Given the description of an element on the screen output the (x, y) to click on. 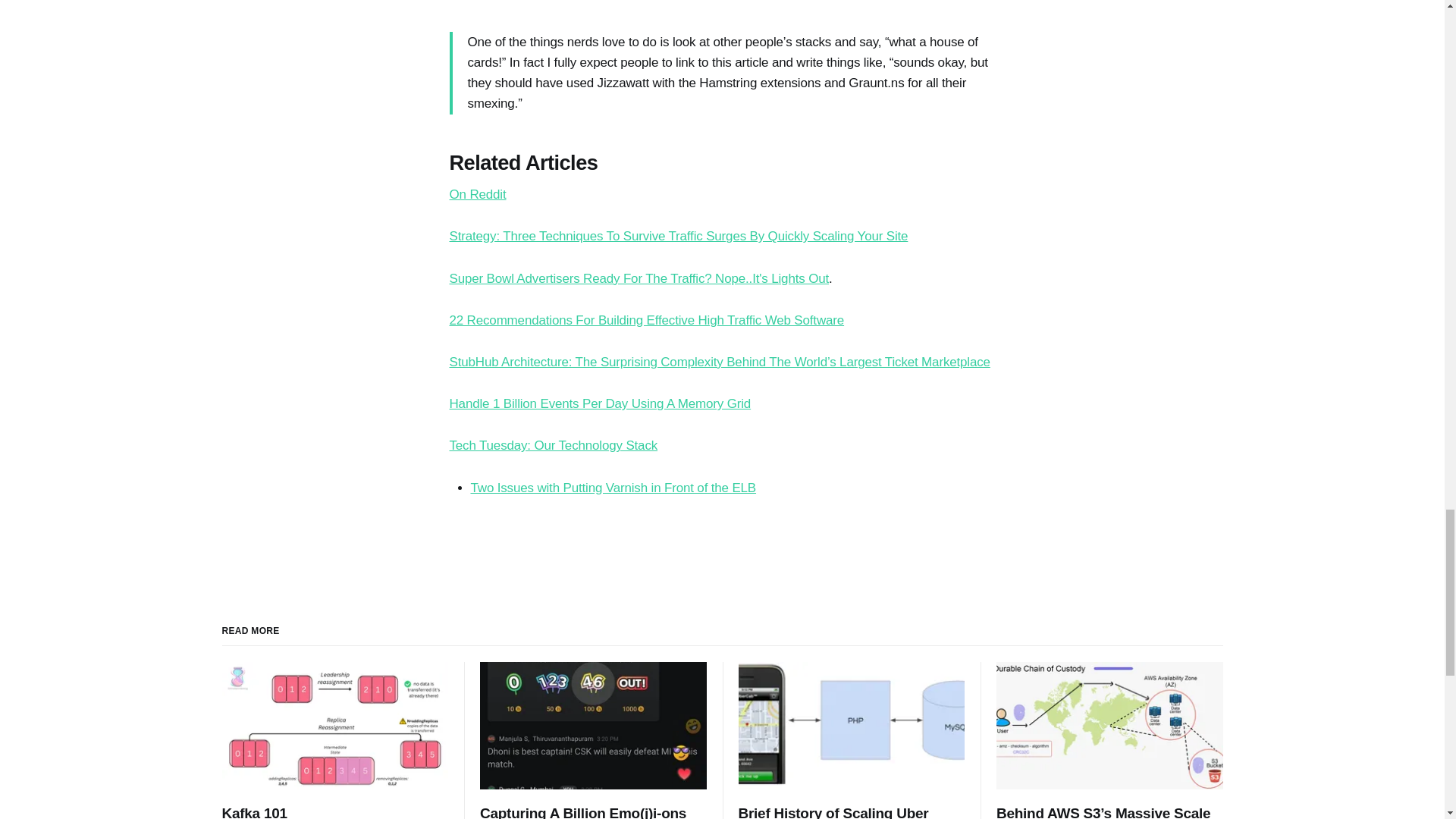
Tech Tuesday: Our Technology Stack (553, 445)
Handle 1 Billion Events Per Day Using A Memory Grid (599, 403)
Two Issues with Putting Varnish in Front of the ELB (612, 487)
On Reddit (476, 194)
